Given the description of an element on the screen output the (x, y) to click on. 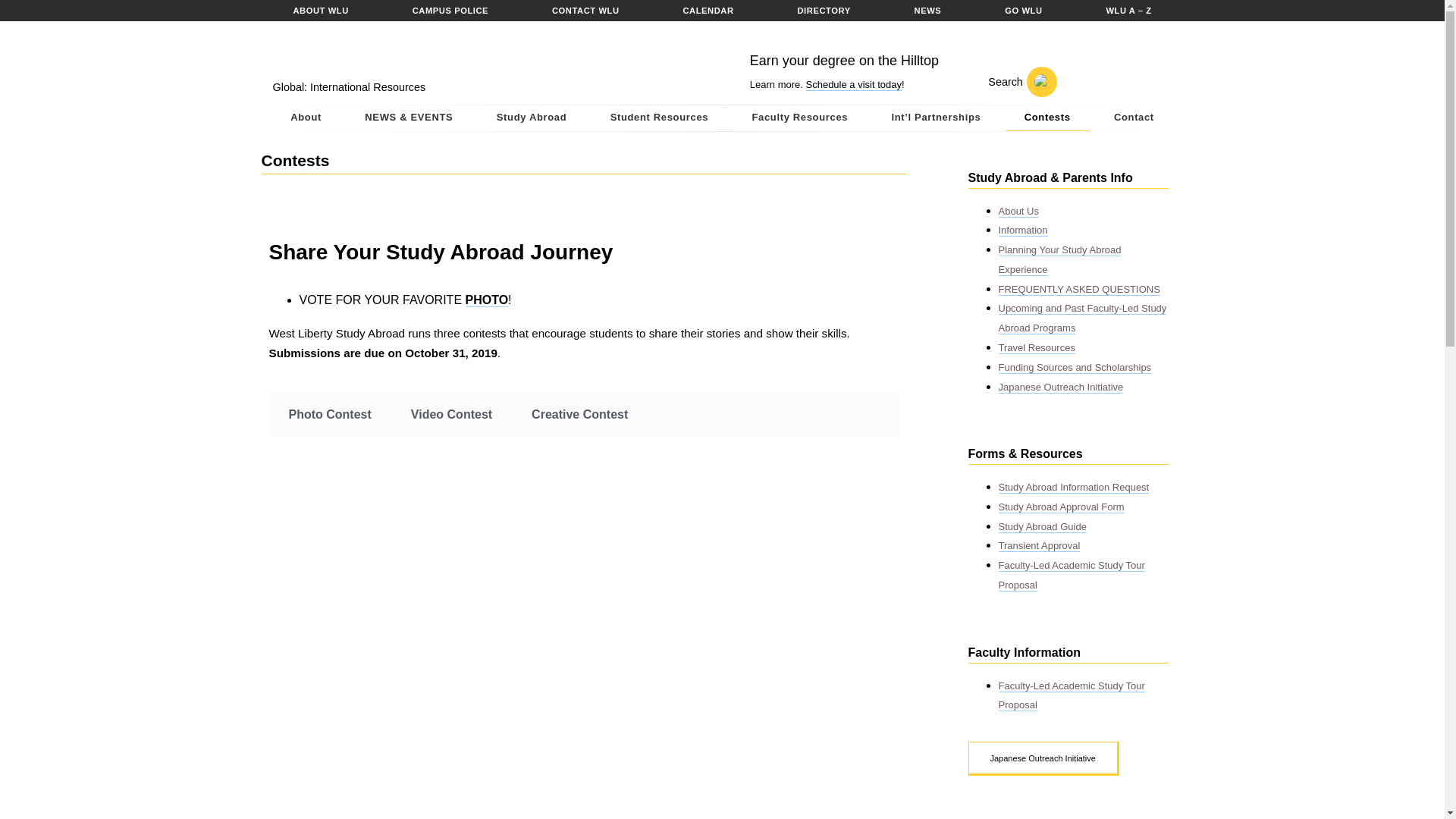
West Liberty University (373, 54)
CAMPUS POLICE (449, 10)
NEWS (928, 10)
Search (1013, 81)
CALENDAR (707, 10)
Faculty Resources (799, 118)
CONTACT WLU (584, 10)
DIRECTORY (823, 10)
GO WLU (1023, 10)
Contests (1047, 118)
Schedule a visit today (853, 84)
Global: International Resources (349, 87)
Student Resources (659, 118)
ABOUT WLU (320, 10)
About (304, 118)
